Given the description of an element on the screen output the (x, y) to click on. 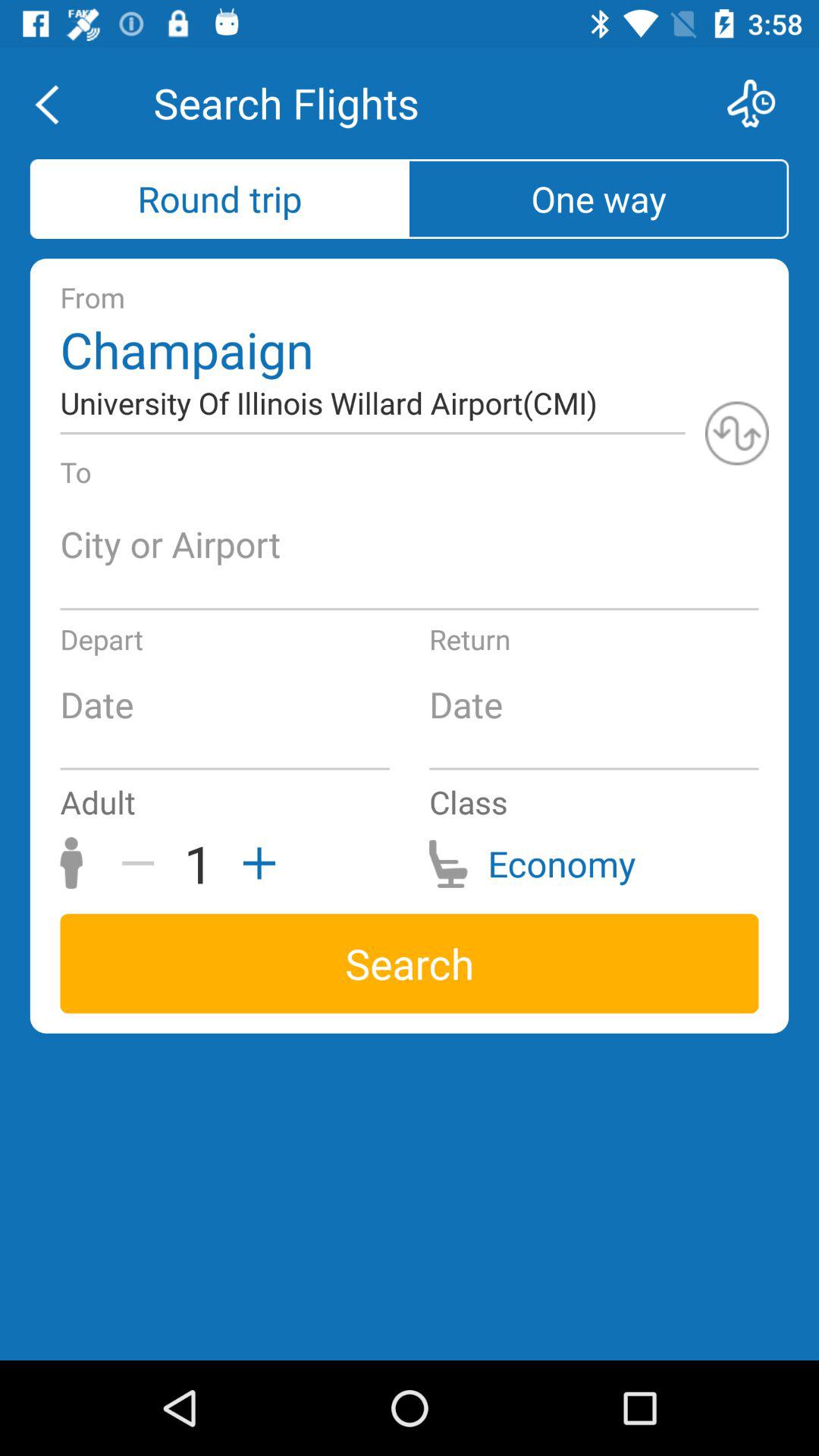
adding (254, 863)
